Given the description of an element on the screen output the (x, y) to click on. 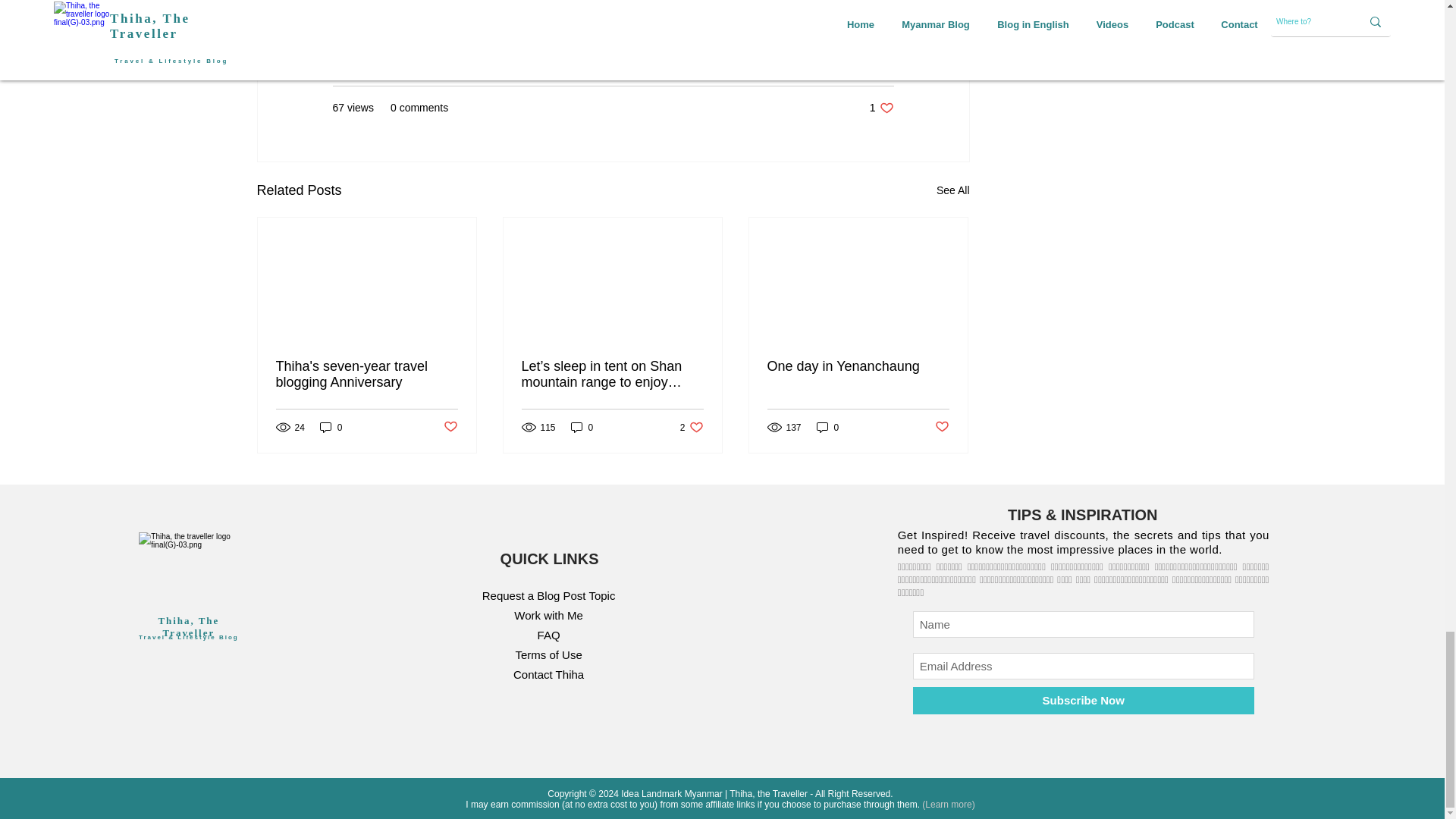
See All (952, 190)
Blog in English (858, 61)
